Given the description of an element on the screen output the (x, y) to click on. 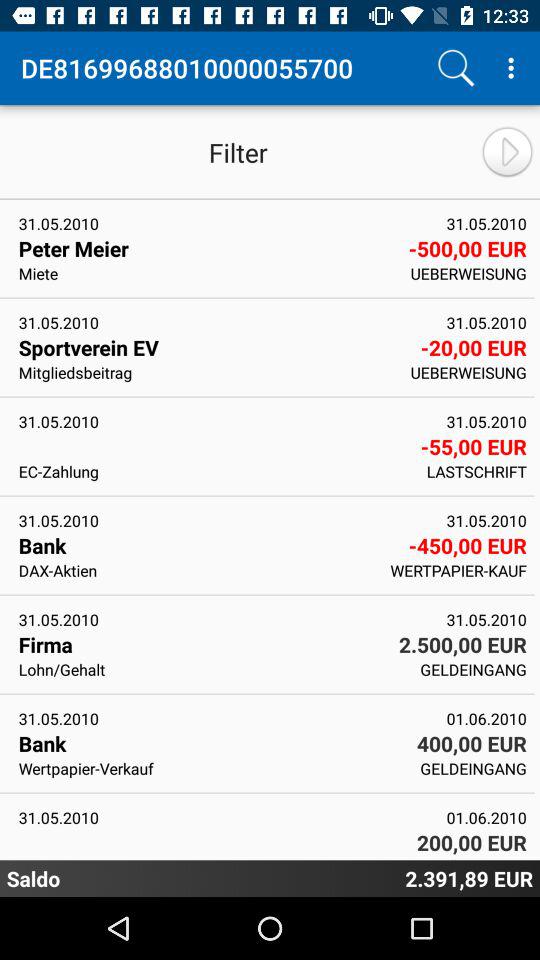
click the icon to the left of wertpapier-kauf icon (197, 570)
